Given the description of an element on the screen output the (x, y) to click on. 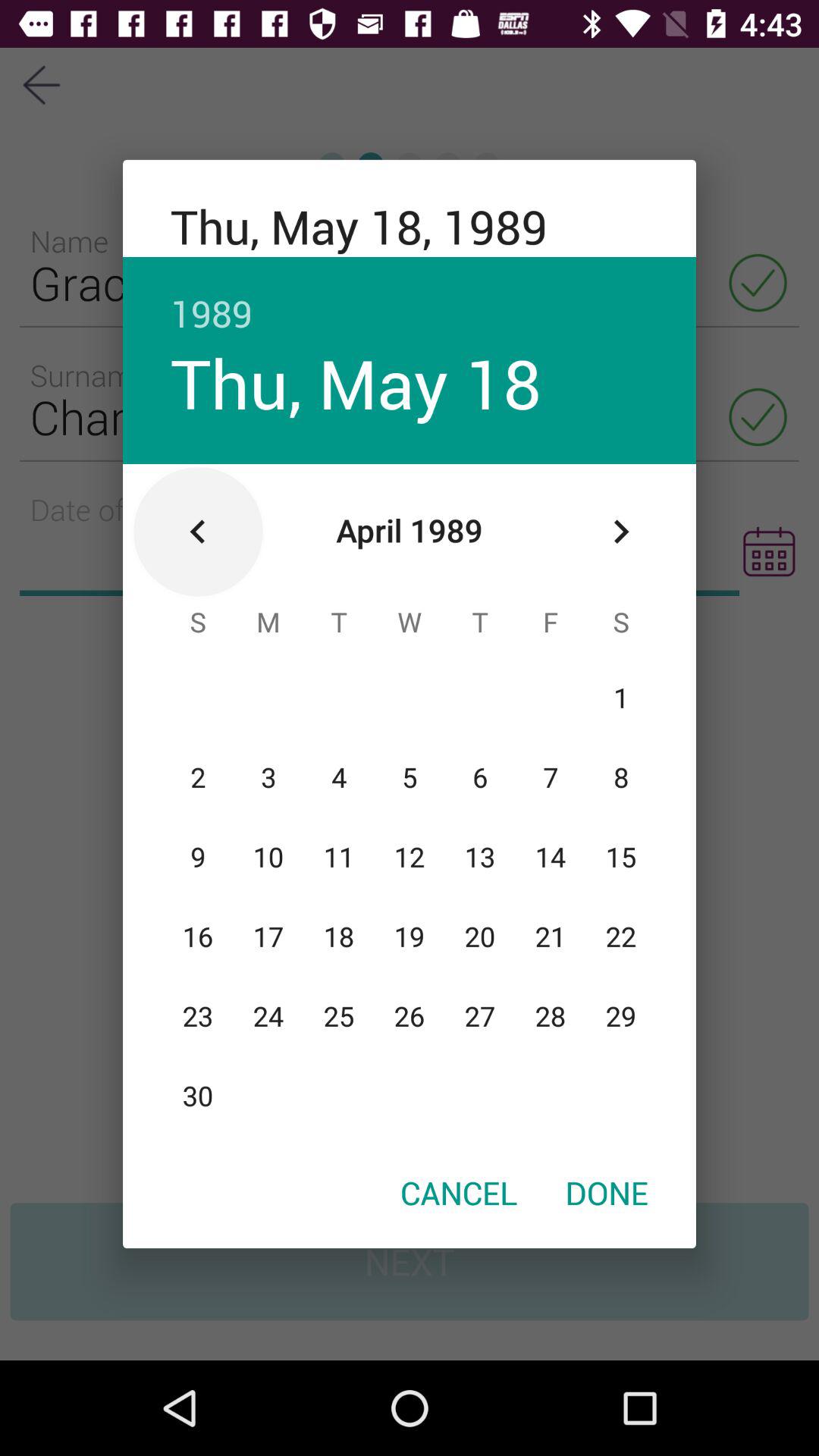
tap the icon on the right (620, 531)
